Given the description of an element on the screen output the (x, y) to click on. 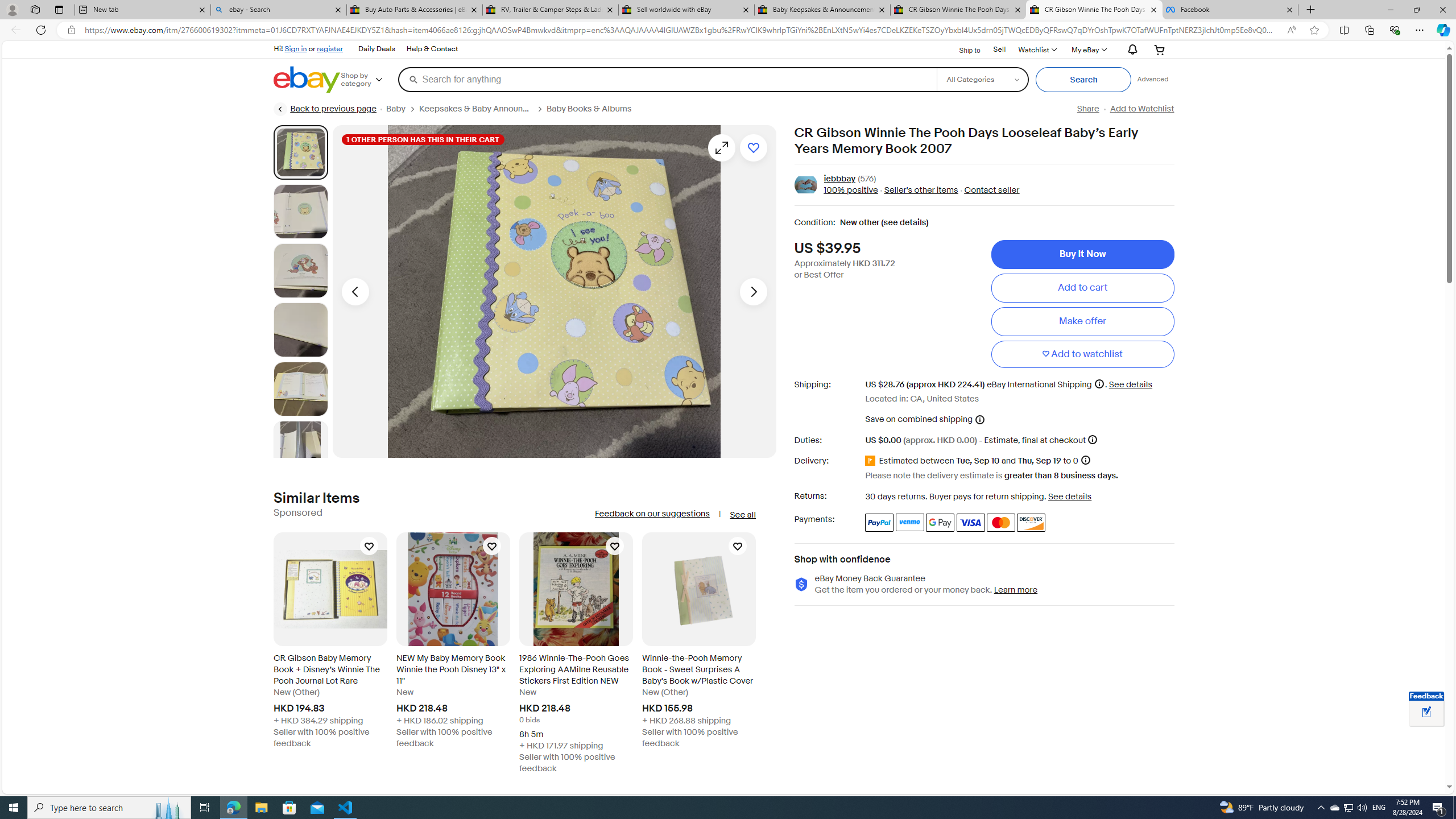
Feedback on our suggestions (652, 513)
Visa (970, 521)
Master Card (999, 521)
Sign in (295, 48)
Picture 2 of 22 (300, 211)
Your shopping cart (1159, 49)
Daily Deals (376, 49)
Picture 4 of 22 (300, 329)
Baby Books & Albums (588, 108)
See details for shipping (1130, 383)
